Given the description of an element on the screen output the (x, y) to click on. 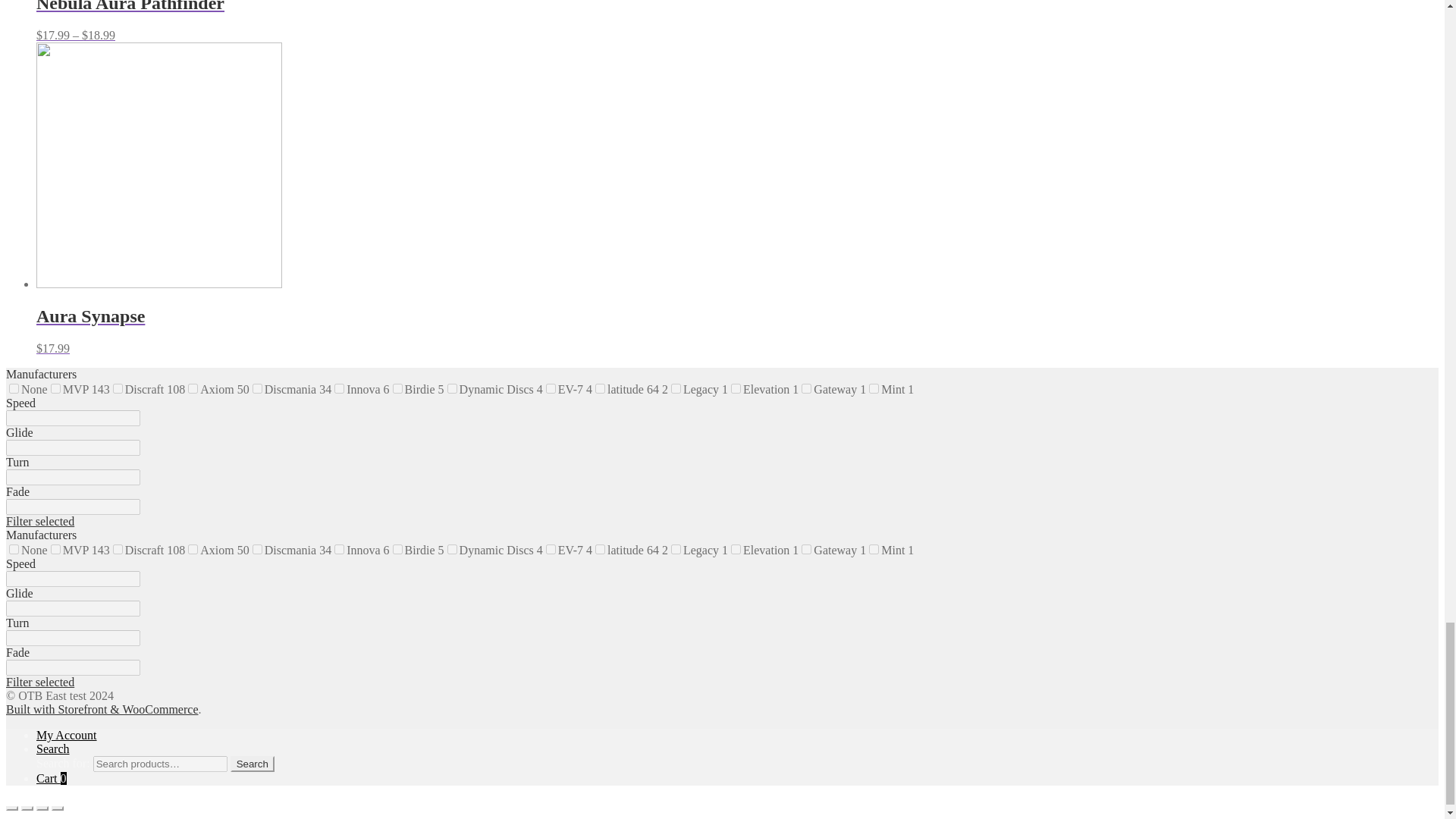
dynamic-discs (451, 388)
discraft (117, 388)
latitude-64 (600, 388)
mint (874, 388)
ev-7 (551, 388)
WooCommerce - The Best eCommerce Platform for WordPress (101, 708)
mvp (55, 388)
innova (338, 388)
gateway (806, 388)
legacy (676, 388)
discmania (256, 388)
birdie (398, 388)
axiom (192, 388)
elevation (735, 388)
